Given the description of an element on the screen output the (x, y) to click on. 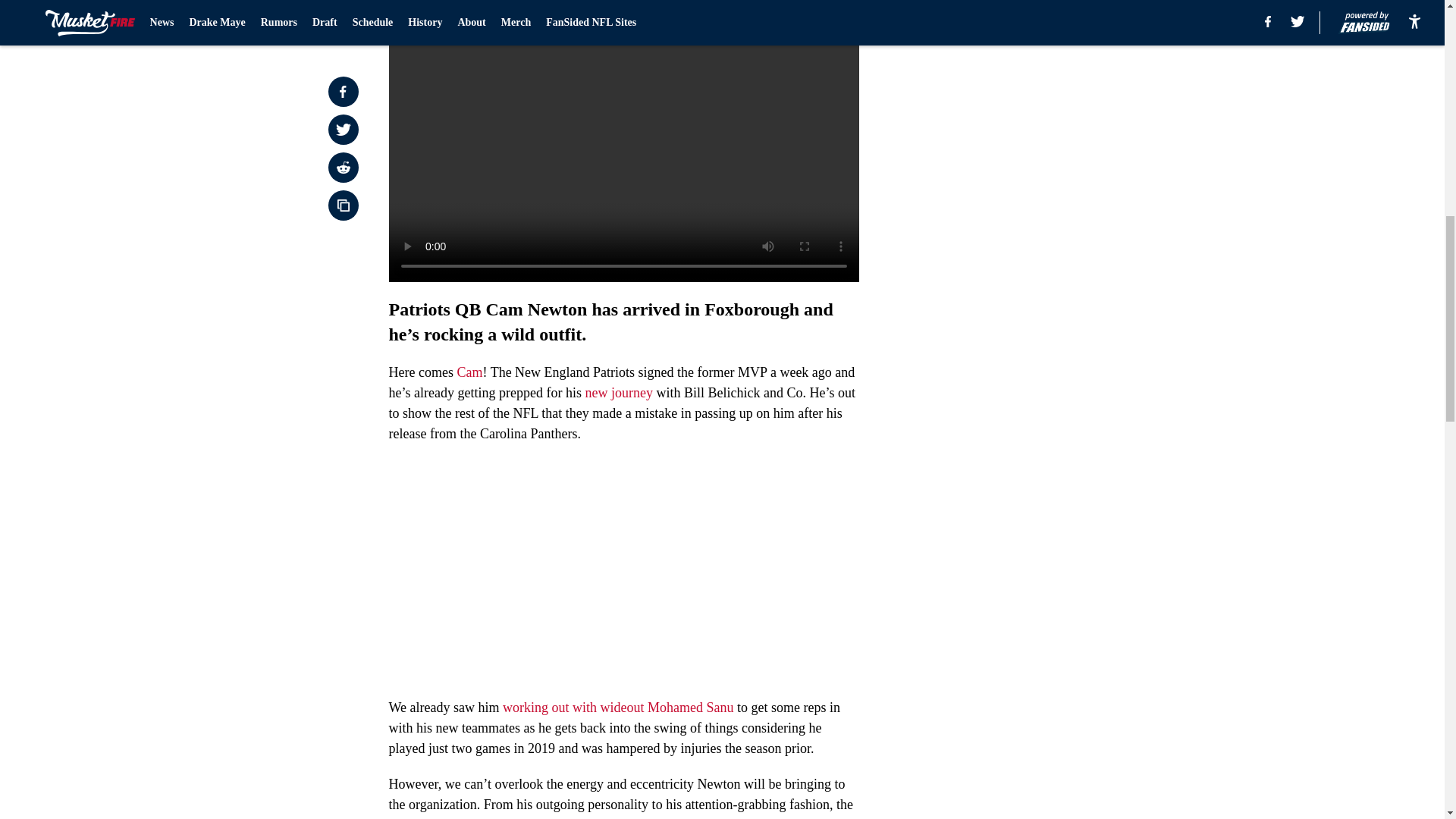
3rd party ad content (1047, 332)
Cam (469, 372)
working out with wideout Mohamed Sanu (617, 707)
3rd party ad content (1047, 113)
new journey (618, 392)
